Given the description of an element on the screen output the (x, y) to click on. 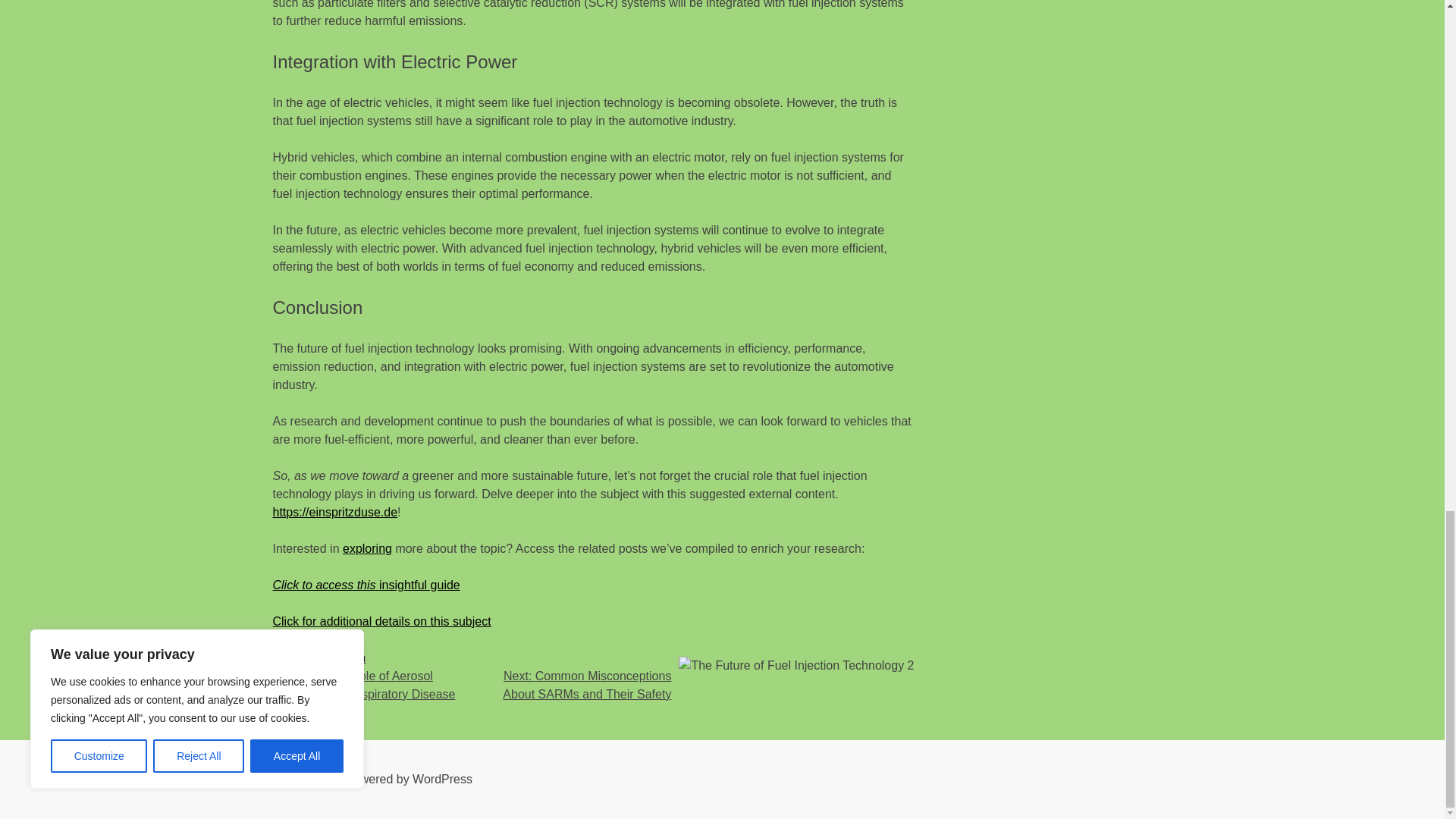
exploring (366, 548)
Click for additional details on this subject (382, 621)
Information (334, 657)
Next: Common Misconceptions About SARMs and Their Safety (586, 685)
Click to access this insightful guide (366, 584)
